Given the description of an element on the screen output the (x, y) to click on. 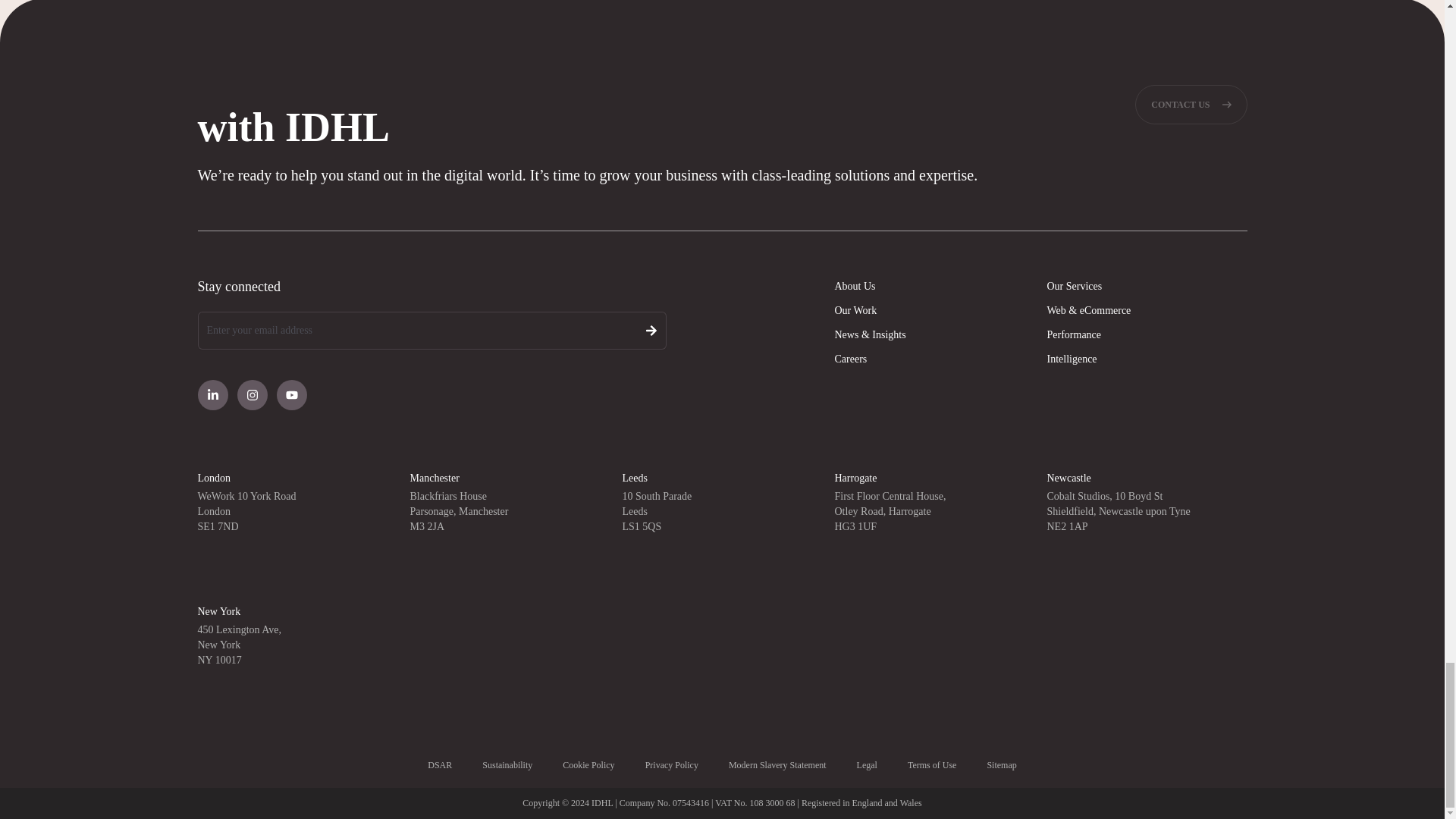
CONTACT US (1190, 104)
